Given the description of an element on the screen output the (x, y) to click on. 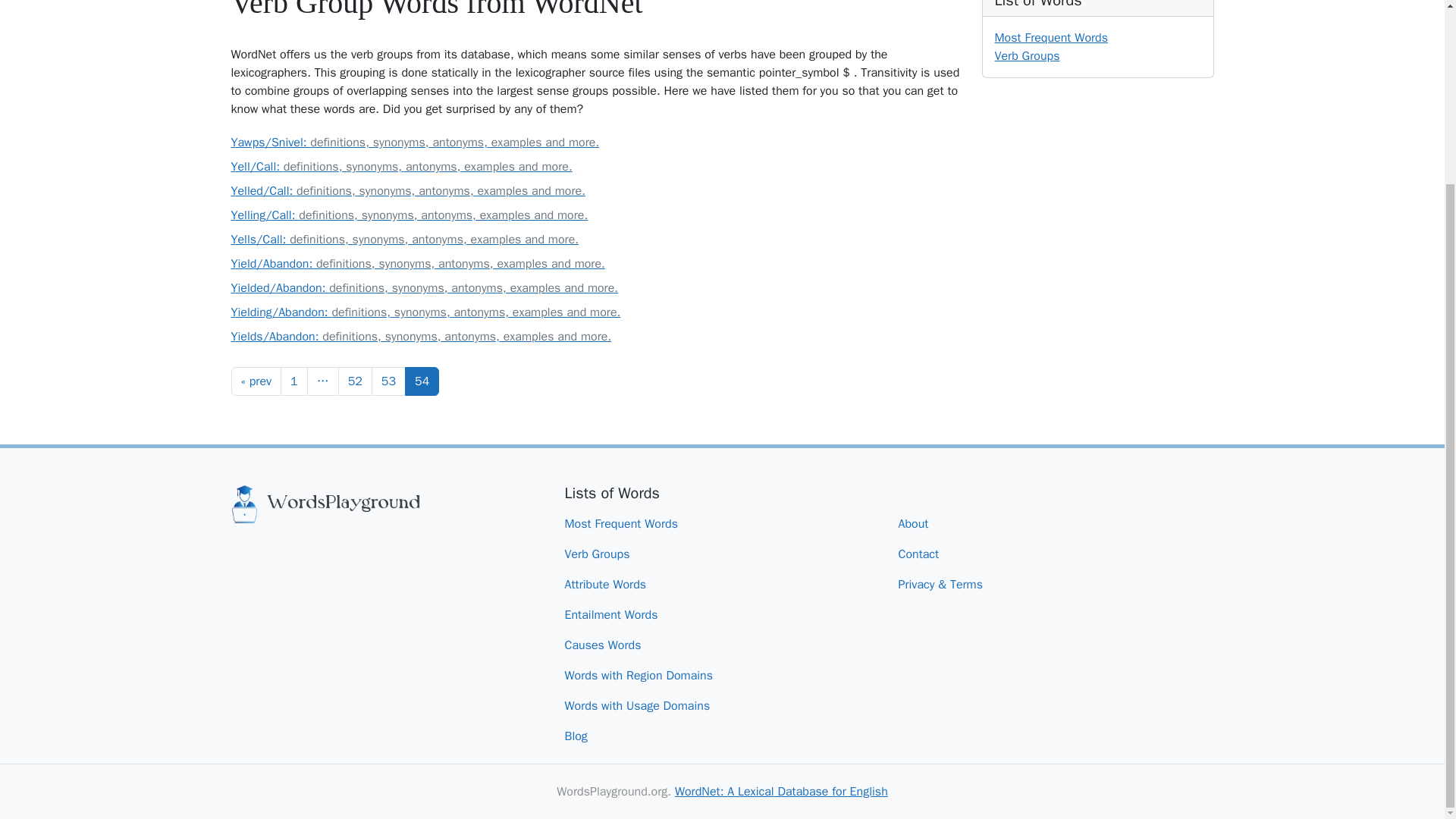
About (919, 523)
Words with Region Domains (644, 675)
Most Frequent Words (1051, 37)
prev (255, 380)
Causes Words (608, 644)
Contact (924, 553)
Verb Groups (1026, 55)
Attribute Words (611, 584)
1 (294, 380)
Verb Groups (603, 553)
